Given the description of an element on the screen output the (x, y) to click on. 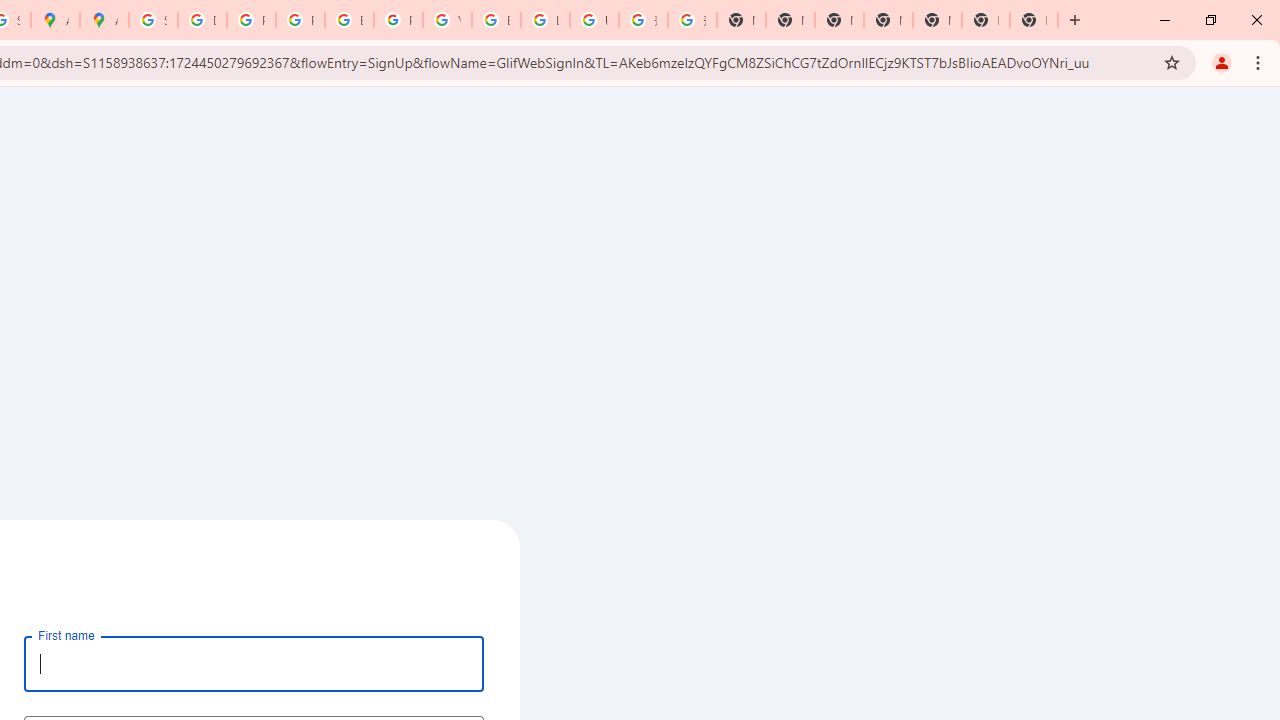
Privacy Help Center - Policies Help (300, 20)
New Tab (985, 20)
